Given the description of an element on the screen output the (x, y) to click on. 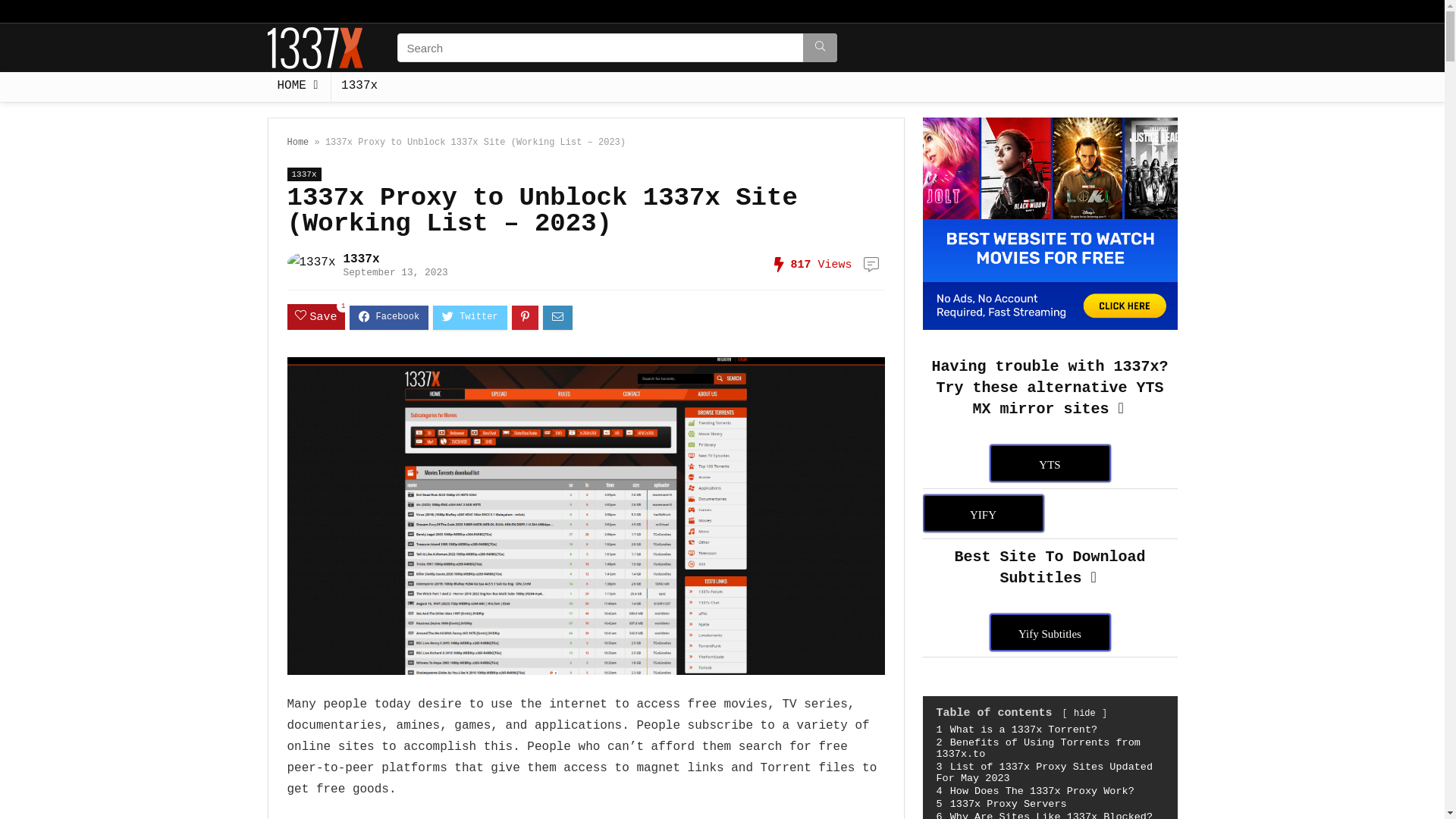
Yify Subtitles Element type: text (1049, 631)
hide Element type: text (1084, 713)
1337x Element type: text (359, 86)
1 What is a 1337x Torrent? Element type: text (1016, 729)
1337x Element type: text (361, 259)
Home Element type: text (297, 142)
2 Benefits of Using Torrents from 1337x.to Element type: text (1037, 748)
YIFY Element type: text (982, 513)
YTS Element type: text (1049, 463)
1337x Element type: text (303, 174)
4 How Does The 1337x Proxy Work? Element type: text (1034, 791)
5 1337x Proxy Servers Element type: text (1000, 803)
3 List of 1337x Proxy Sites Updated For May 2023 Element type: text (1043, 772)
